Given the description of an element on the screen output the (x, y) to click on. 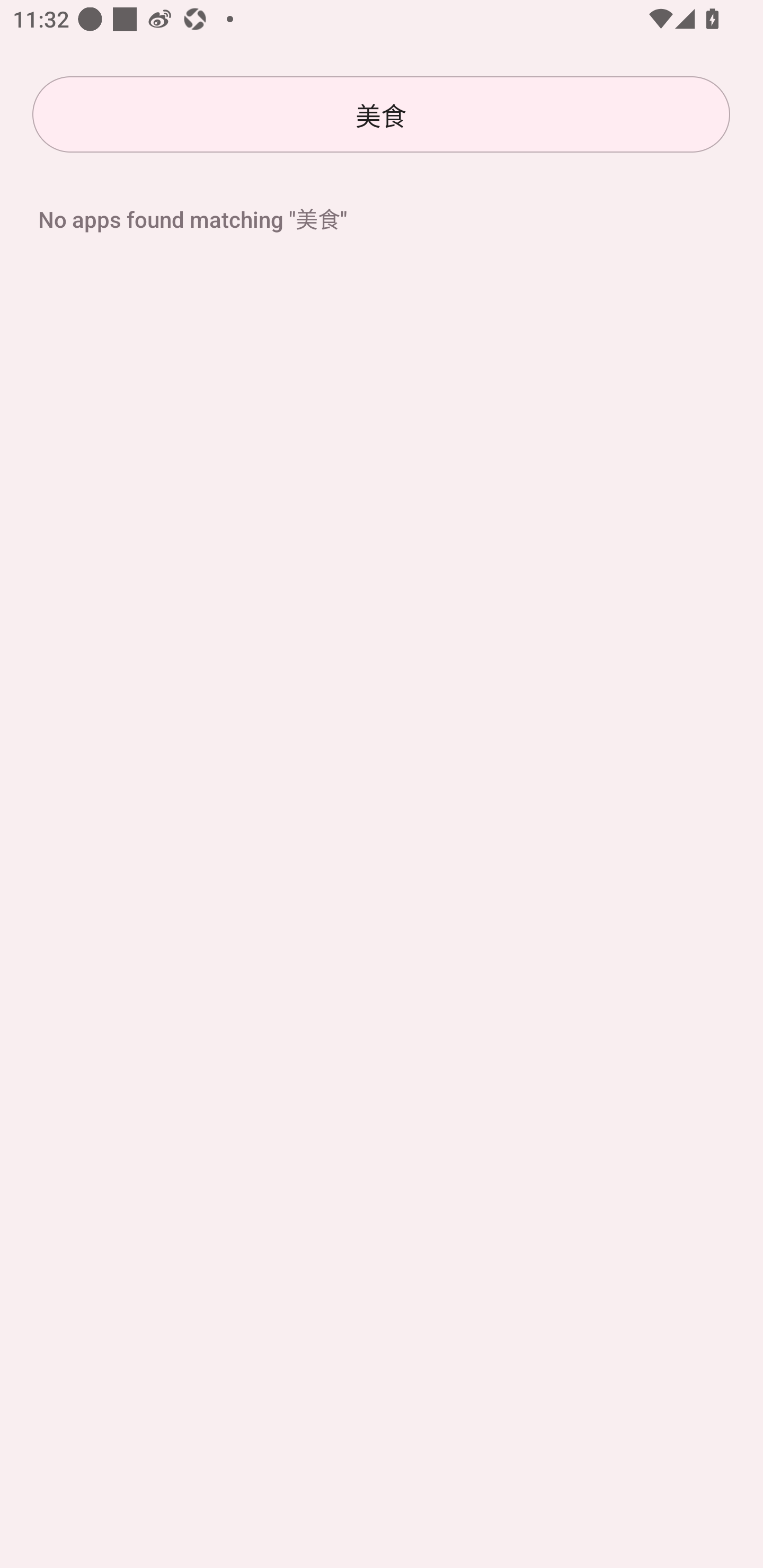
美食 (381, 114)
